Given the description of an element on the screen output the (x, y) to click on. 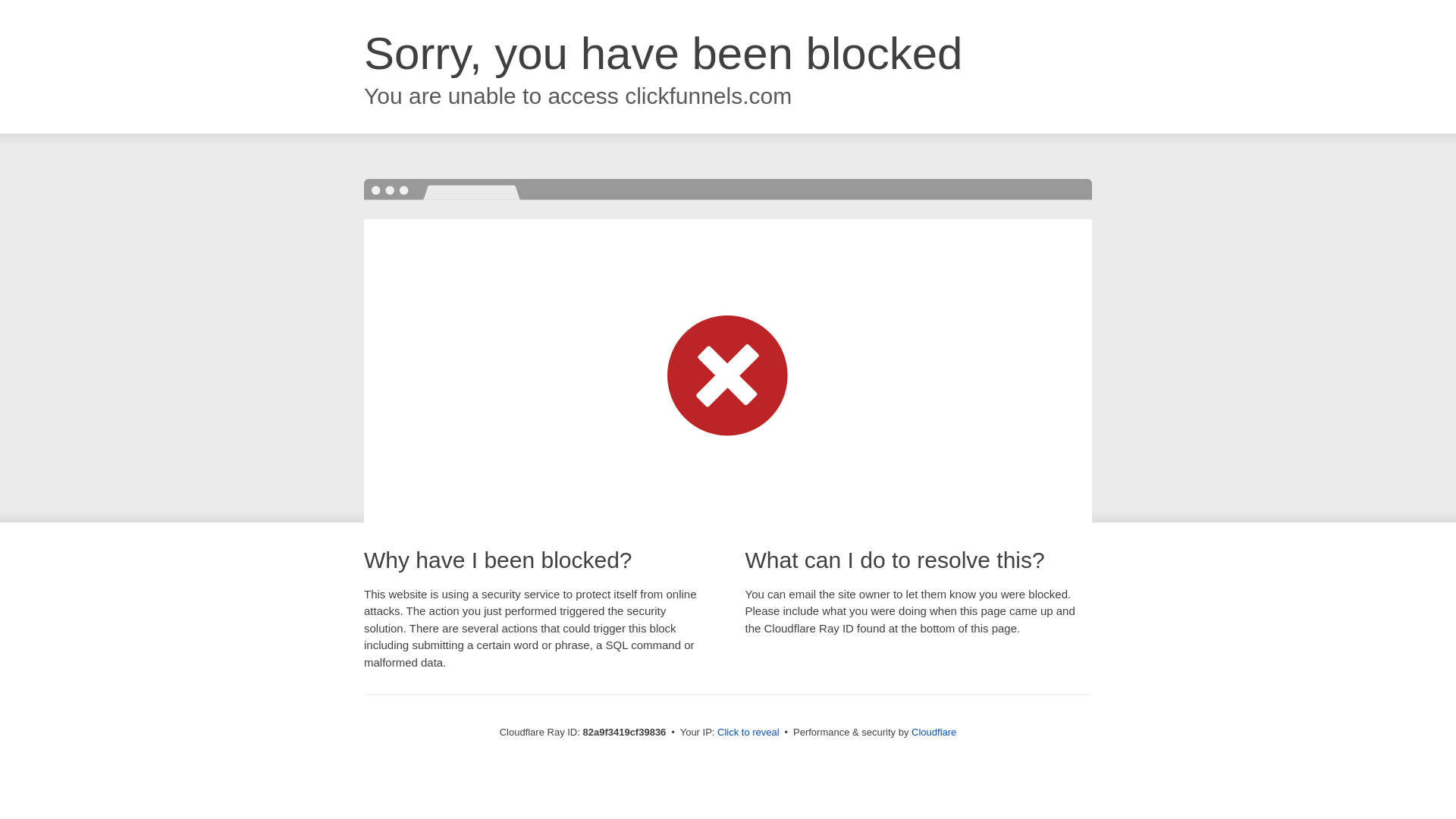
Cloudflare Element type: text (933, 731)
Click to reveal Element type: text (748, 732)
